Given the description of an element on the screen output the (x, y) to click on. 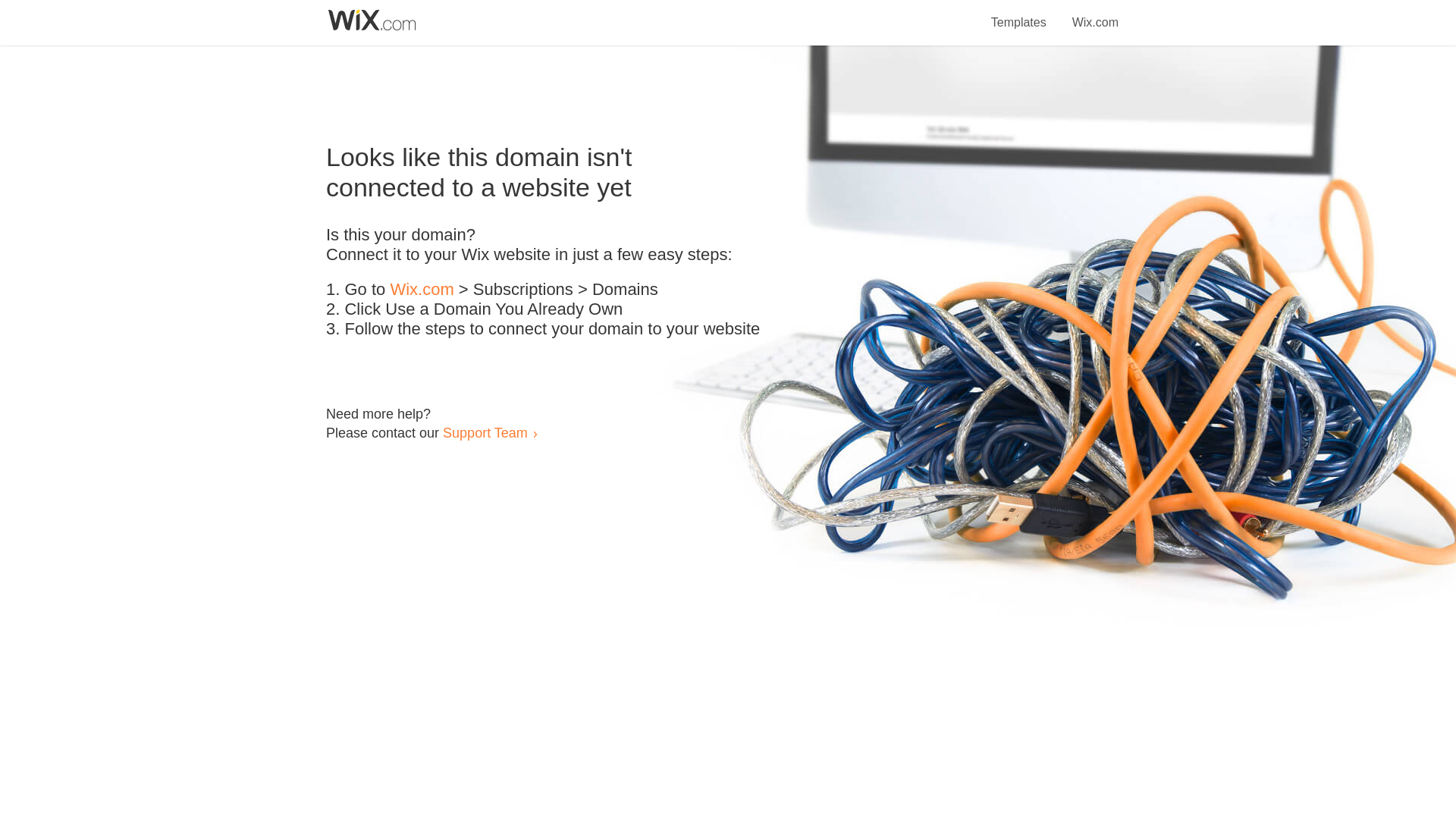
Wix.com (1095, 14)
Wix.com (421, 289)
Support Team (484, 432)
Templates (1018, 14)
